Given the description of an element on the screen output the (x, y) to click on. 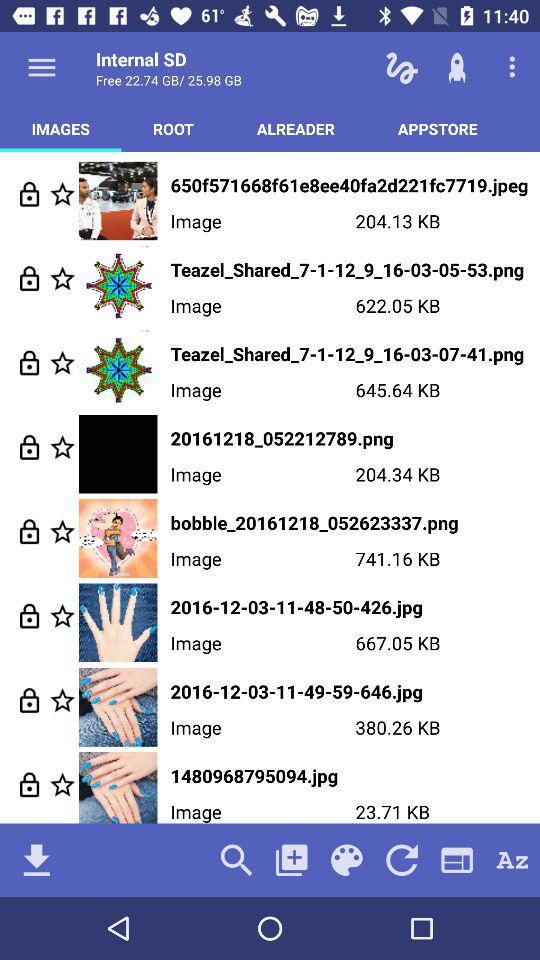
like the image (62, 278)
